Given the description of an element on the screen output the (x, y) to click on. 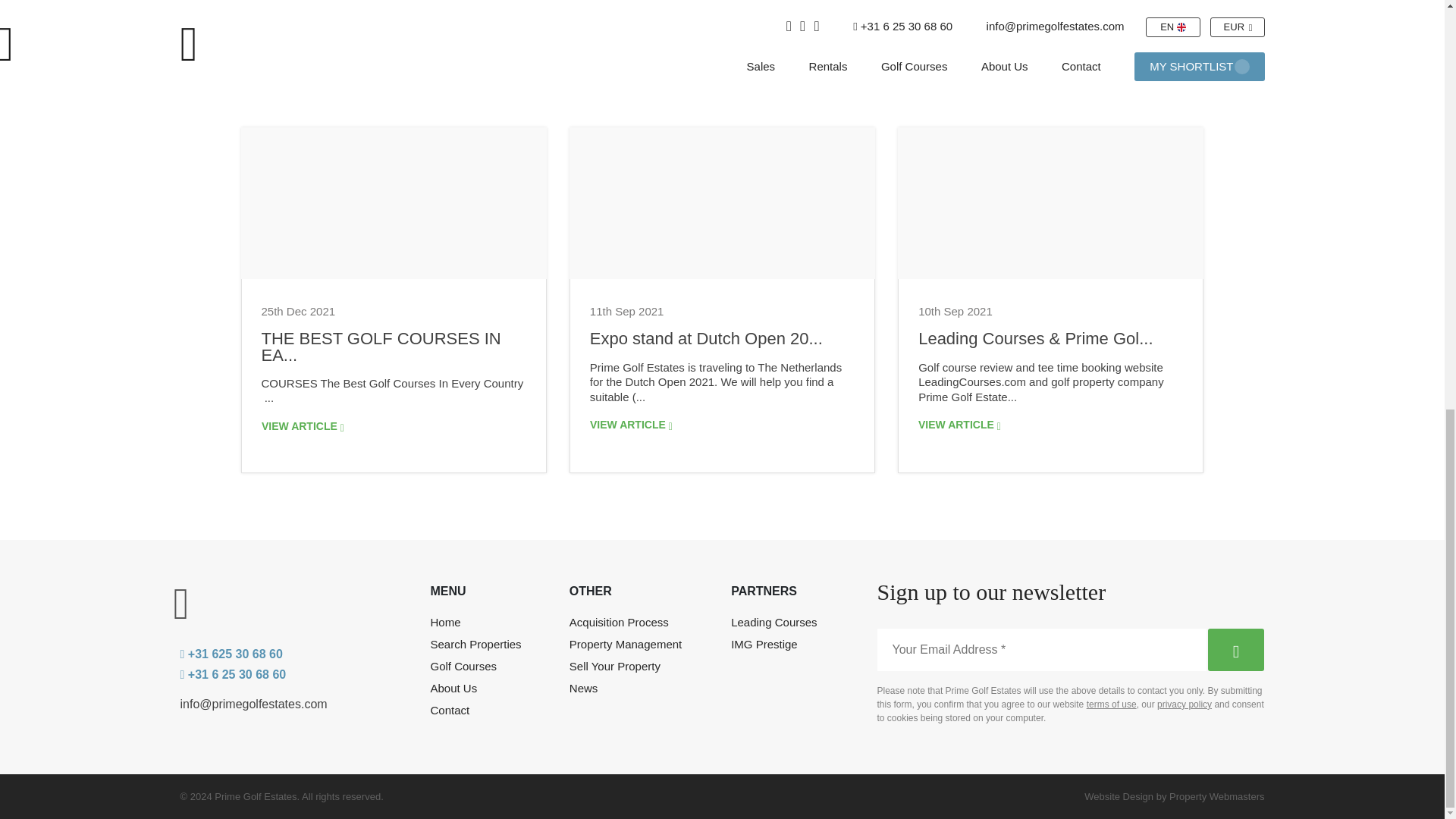
Property Webmasters (1118, 796)
